Given the description of an element on the screen output the (x, y) to click on. 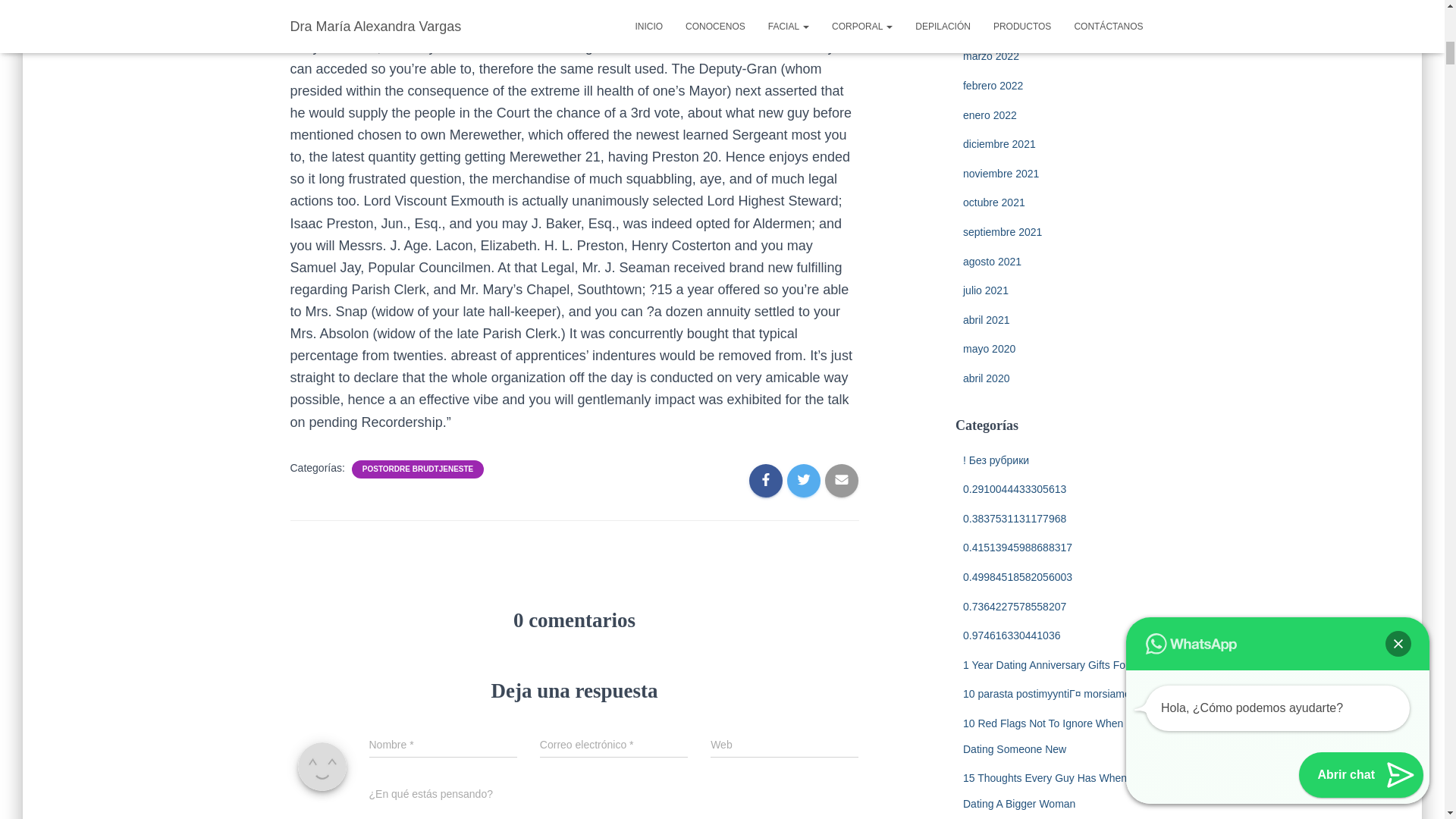
POSTORDRE BRUDTJENESTE (418, 469)
